Given the description of an element on the screen output the (x, y) to click on. 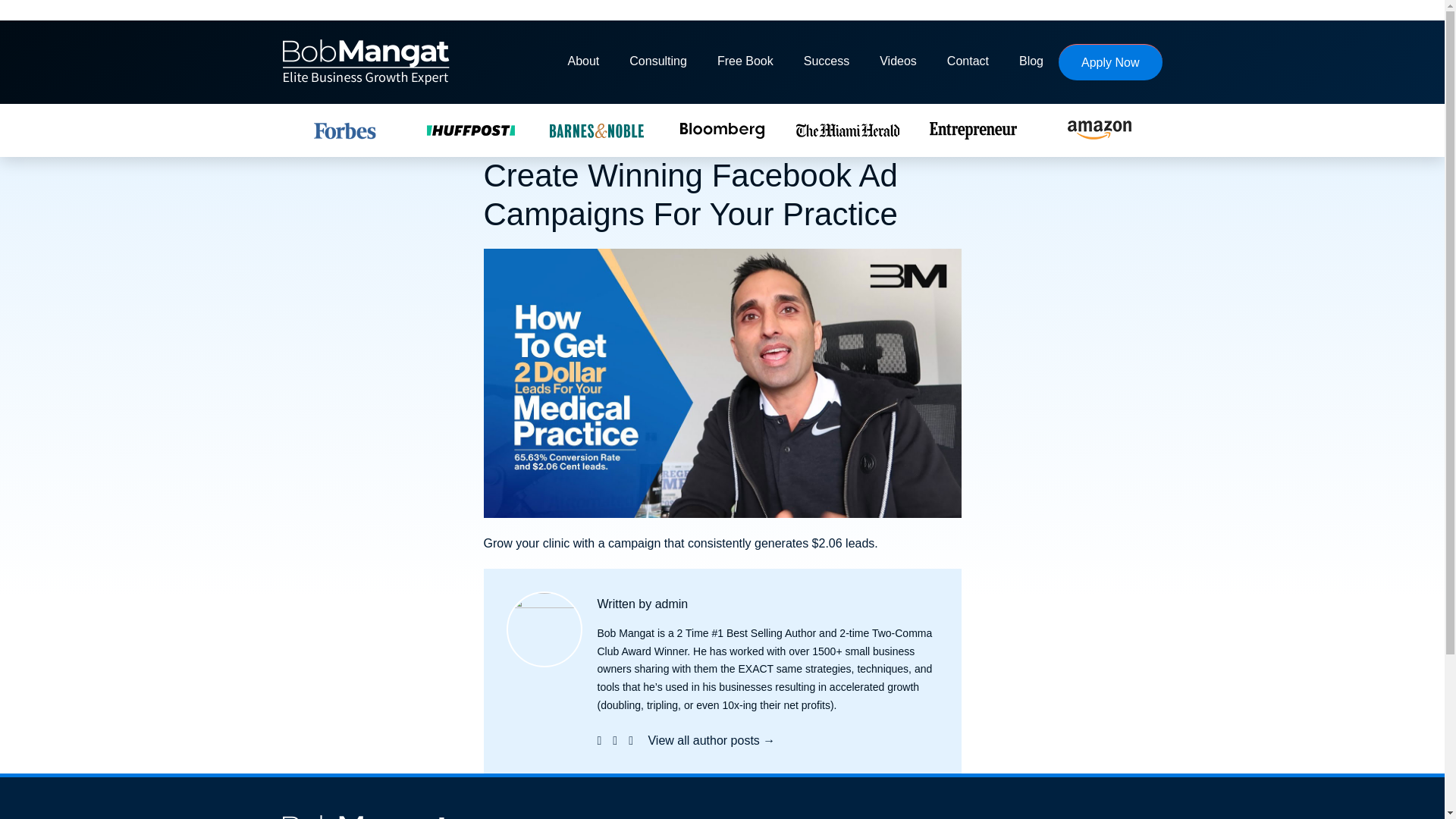
Videos (897, 62)
Consulting (657, 62)
Contact (967, 62)
View all author posts (710, 739)
Free Book (745, 62)
Bob Mangat (365, 62)
Apply Now (1109, 62)
Success (826, 62)
About (582, 62)
Blog (1031, 62)
